Given the description of an element on the screen output the (x, y) to click on. 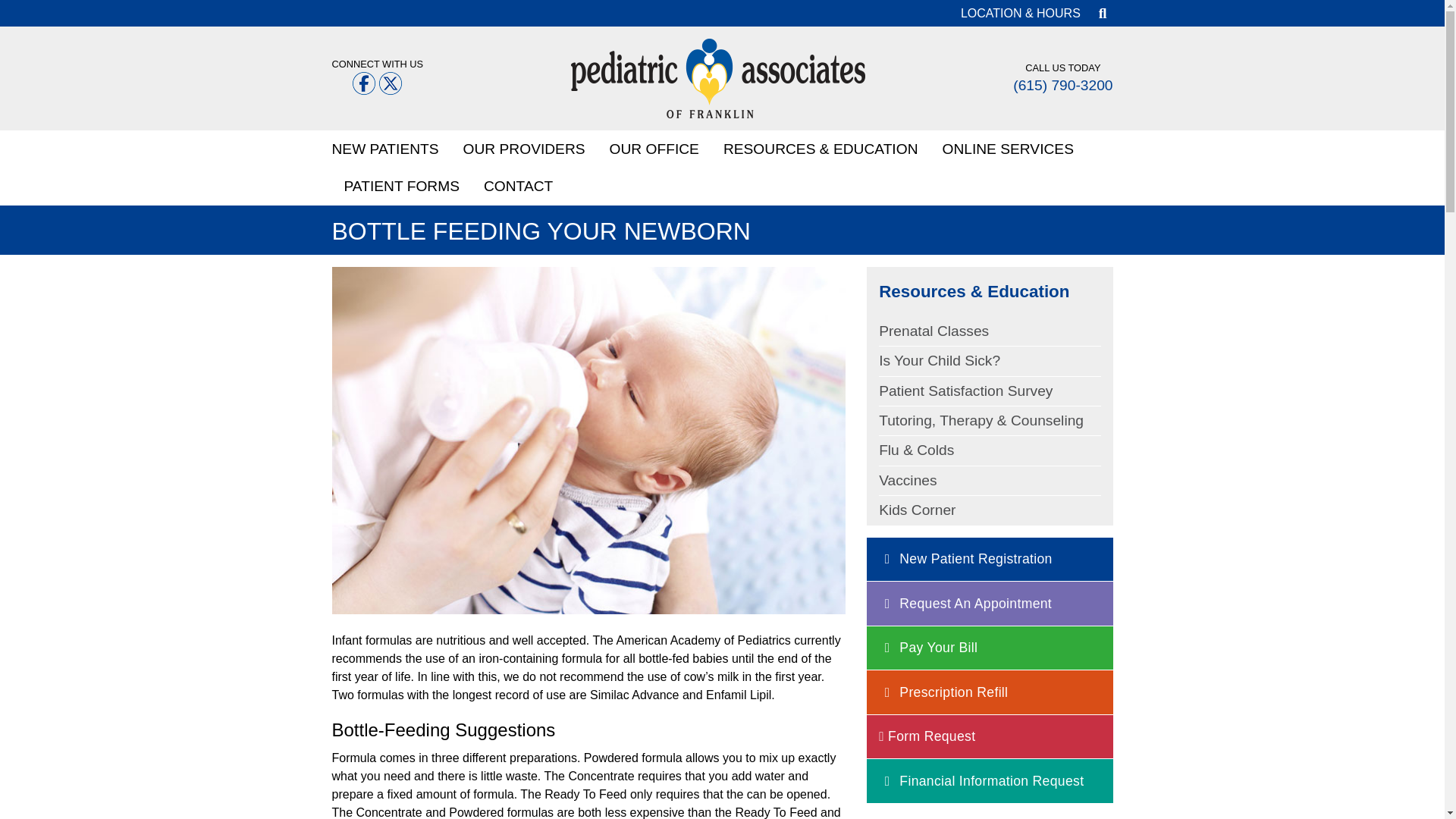
CONTACT (517, 187)
Pay Your Bill (927, 647)
Prenatal Classes (933, 330)
PATIENT FORMS (401, 187)
Request An Appointment (965, 603)
NEW PATIENTS (391, 149)
Form Request (927, 736)
OUR OFFICE (653, 149)
Vaccines (907, 480)
Patient Satisfaction Survey (965, 390)
Prescription Refill (943, 692)
OUR PROVIDERS (523, 149)
ONLINE SERVICES (1007, 149)
New Patient Registration (965, 558)
Kids Corner (917, 509)
